Given the description of an element on the screen output the (x, y) to click on. 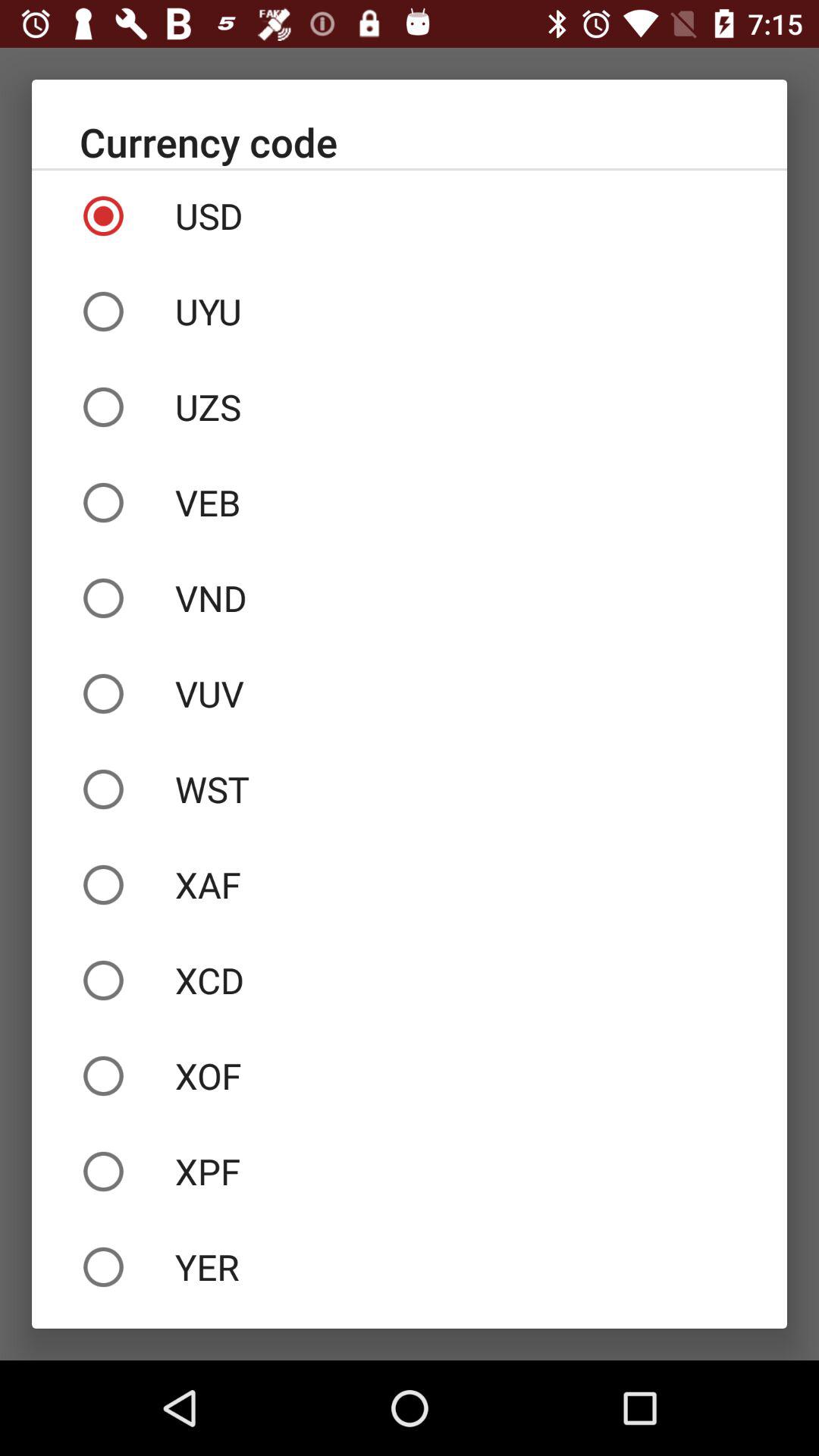
click icon above xcd icon (409, 884)
